Given the description of an element on the screen output the (x, y) to click on. 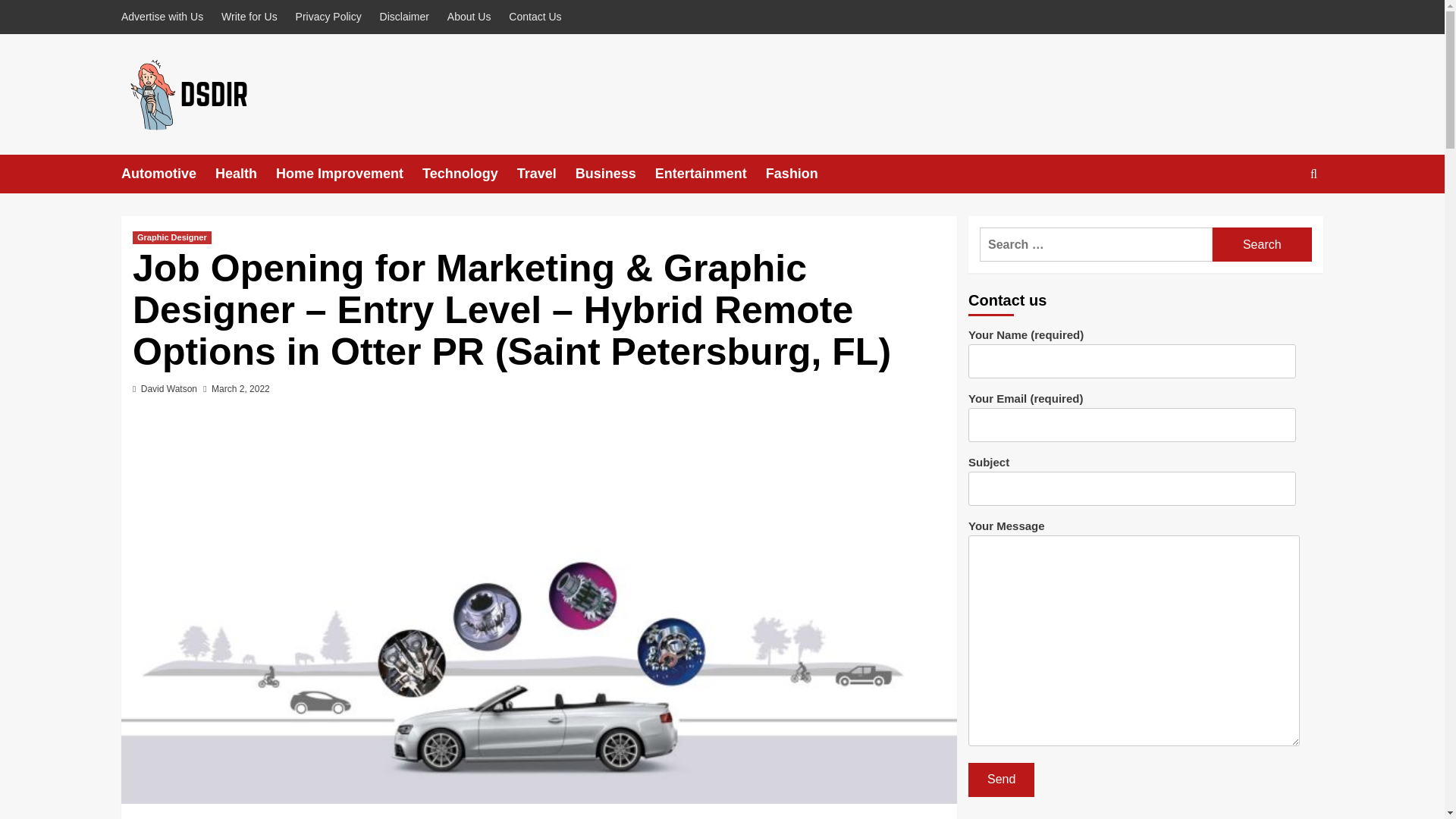
Disclaimer (404, 17)
Home Improvement (349, 173)
Technology (469, 173)
Entertainment (710, 173)
Travel (545, 173)
Graphic Designer (171, 237)
March 2, 2022 (240, 388)
Write for Us (249, 17)
Business (615, 173)
Automotive (167, 173)
About Us (469, 17)
Search (1261, 244)
Health (245, 173)
Search (1261, 244)
Search (1278, 220)
